Given the description of an element on the screen output the (x, y) to click on. 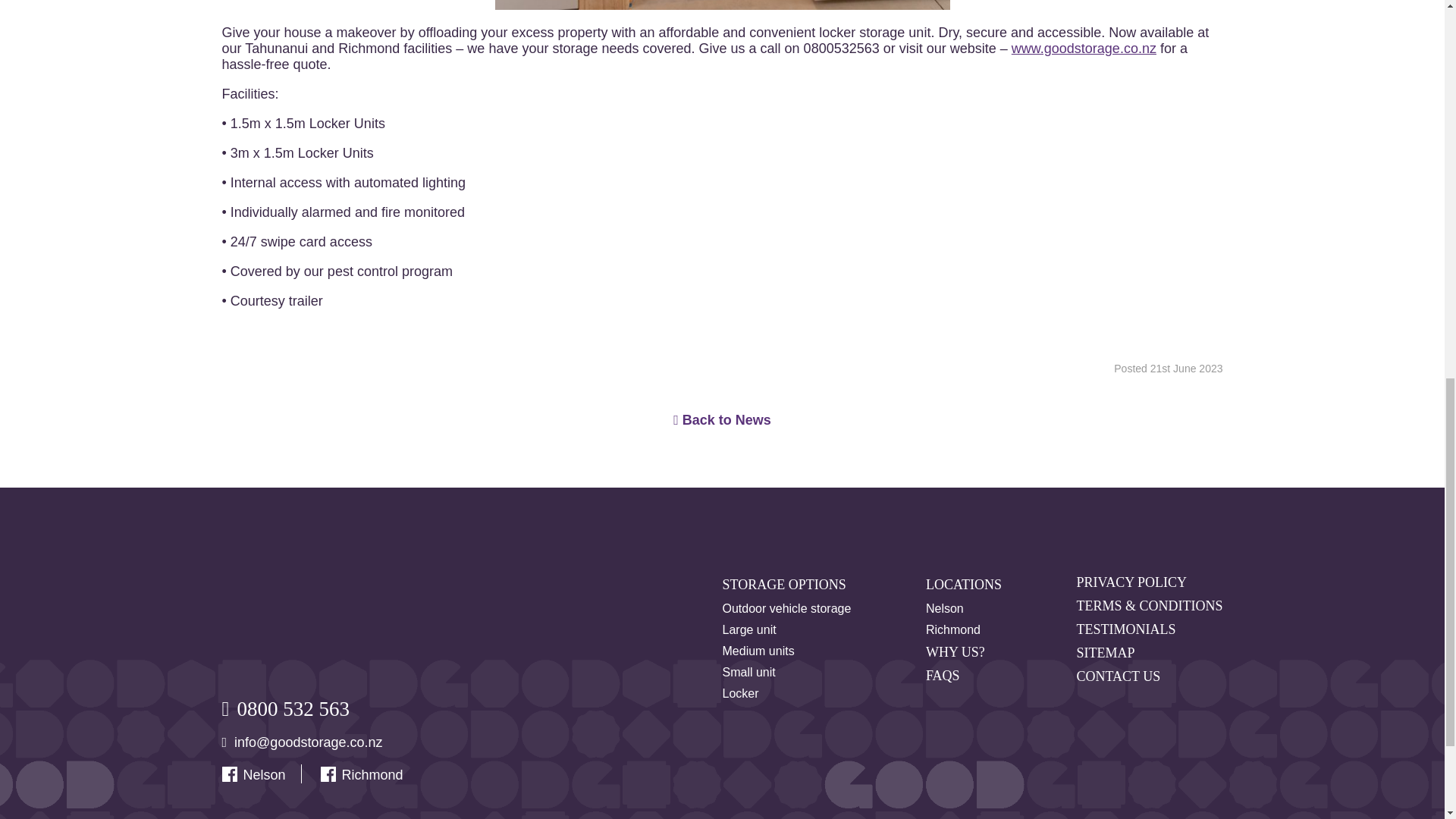
Back to News (721, 419)
Good Storage Group (277, 616)
Large unit (749, 630)
Outdoor vehicle storage (786, 608)
WHY US? (955, 652)
Small unit (748, 672)
Nelson (264, 774)
Medium units (757, 651)
Offload and upsize! (722, 4)
TESTIMONIALS (1124, 629)
0800 532 563 (292, 709)
Richmond (952, 630)
www.goodstorage.co.nz (1083, 48)
Nelson (944, 608)
PRIVACY POLICY (1130, 582)
